Given the description of an element on the screen output the (x, y) to click on. 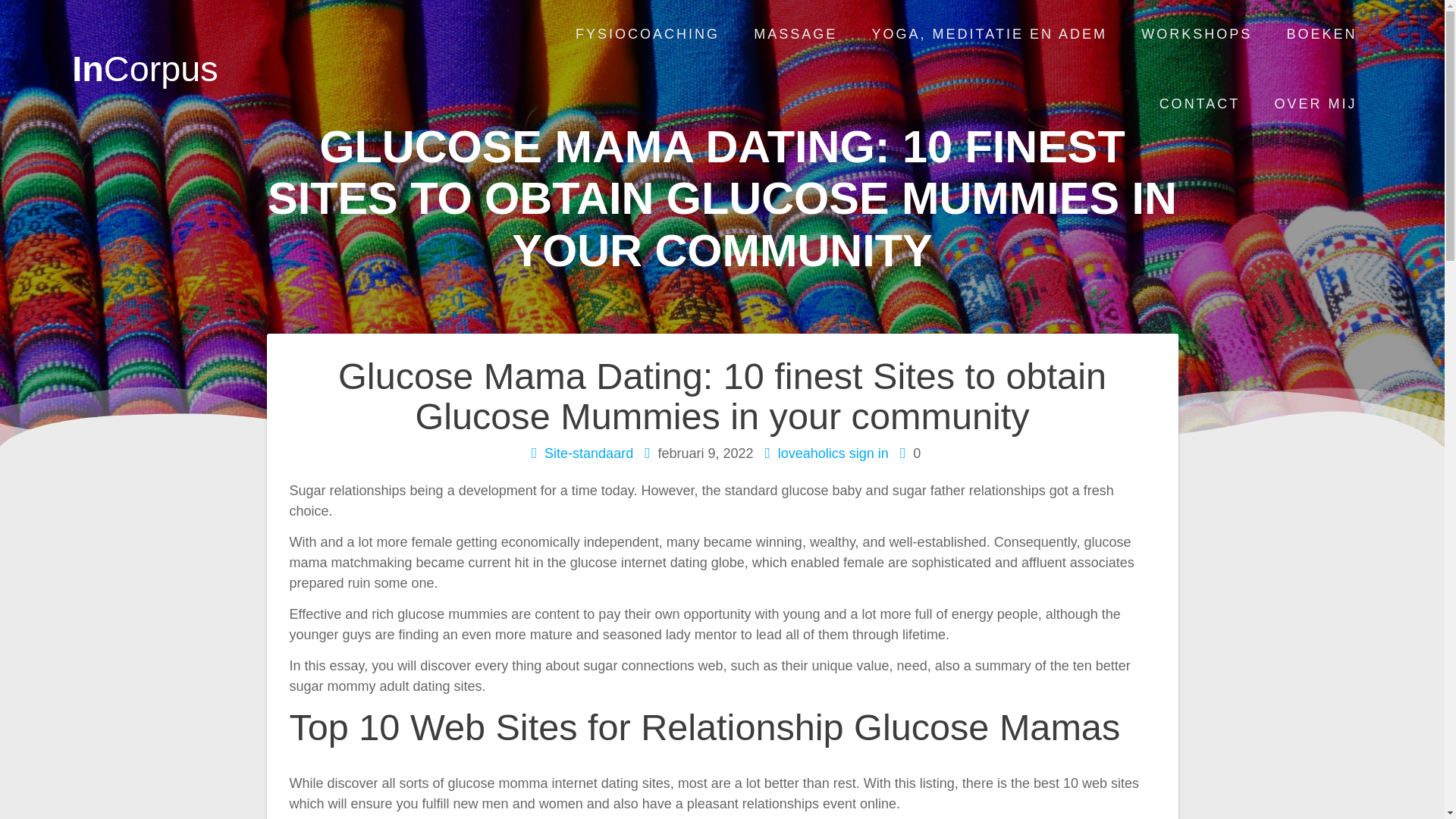
FYSIOCOACHING (647, 34)
WORKSHOPS (1196, 34)
BOEKEN (1321, 34)
Site-standaard (588, 453)
CONTACT (1199, 104)
InCorpus (143, 68)
OVER MIJ (1315, 104)
MASSAGE (795, 34)
Berichten van Site-standaard (588, 453)
loveaholics sign in (832, 453)
